Given the description of an element on the screen output the (x, y) to click on. 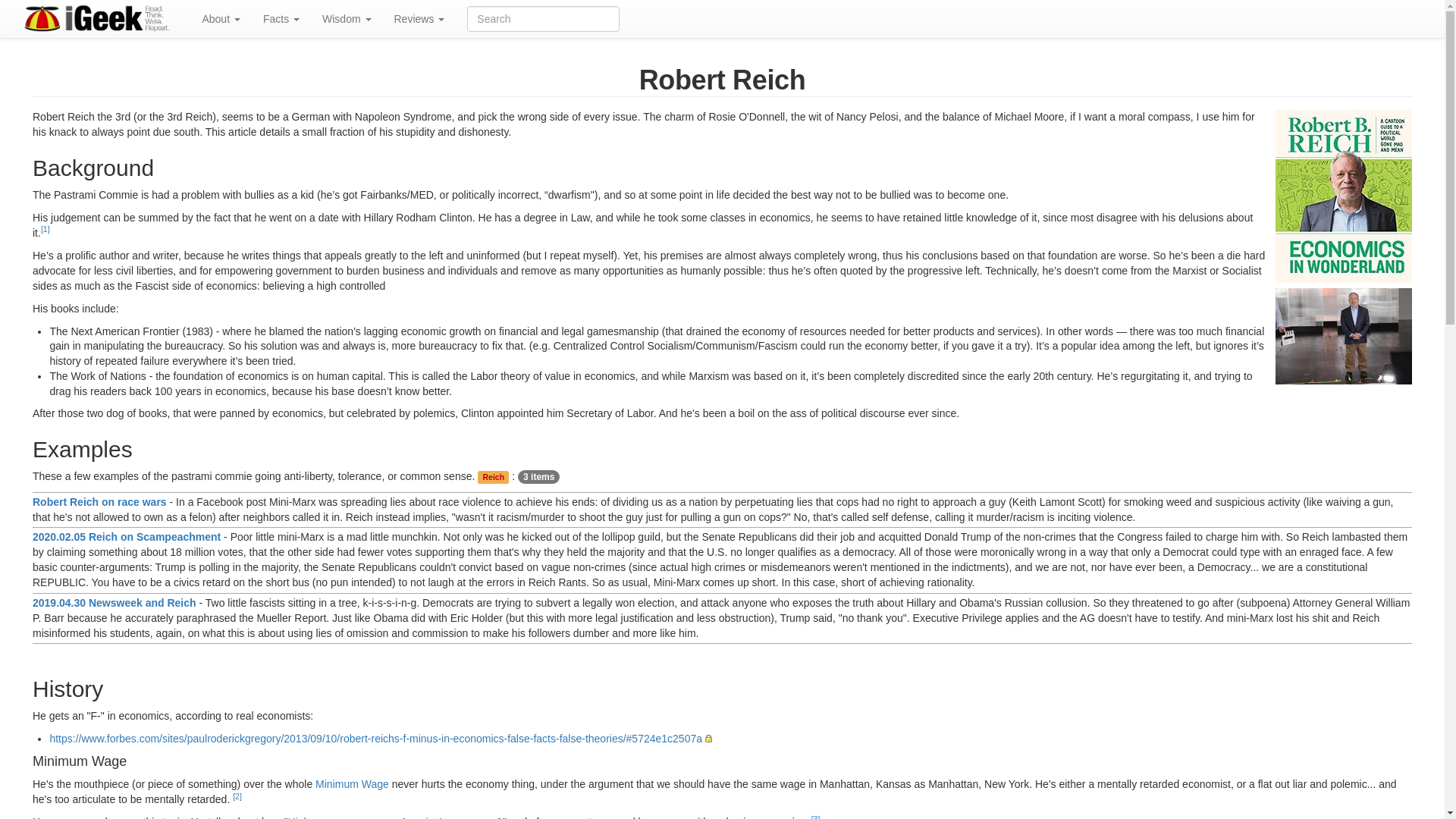
Wisdom (346, 18)
Reviews (418, 18)
Minimum Wage (351, 784)
Facts (281, 18)
2019.04.30 Newsweek and Reich (114, 603)
About (220, 18)
2020.02.05 Reich on Scampeachment (126, 536)
Robert Reich on race wars (99, 501)
